Given the description of an element on the screen output the (x, y) to click on. 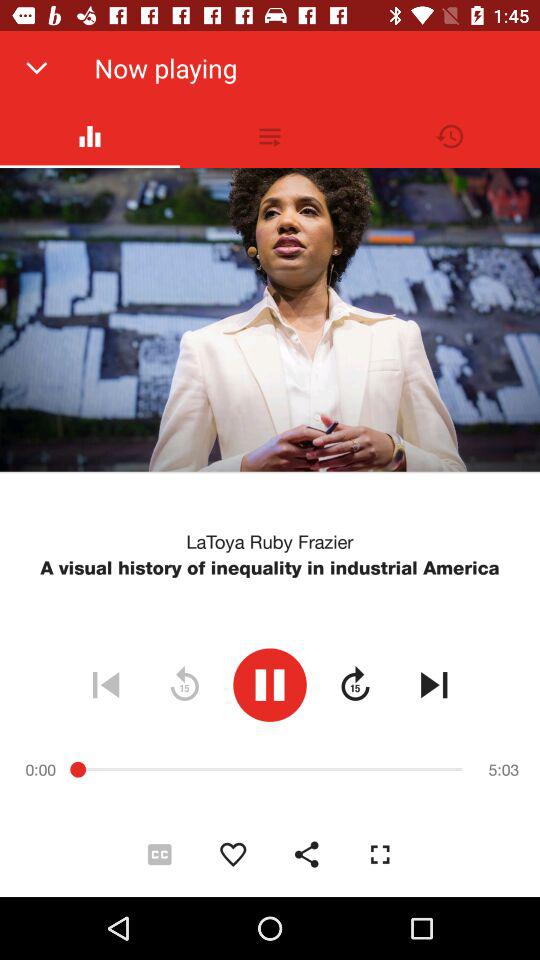
open the item below latoya ruby frazier (269, 568)
